Given the description of an element on the screen output the (x, y) to click on. 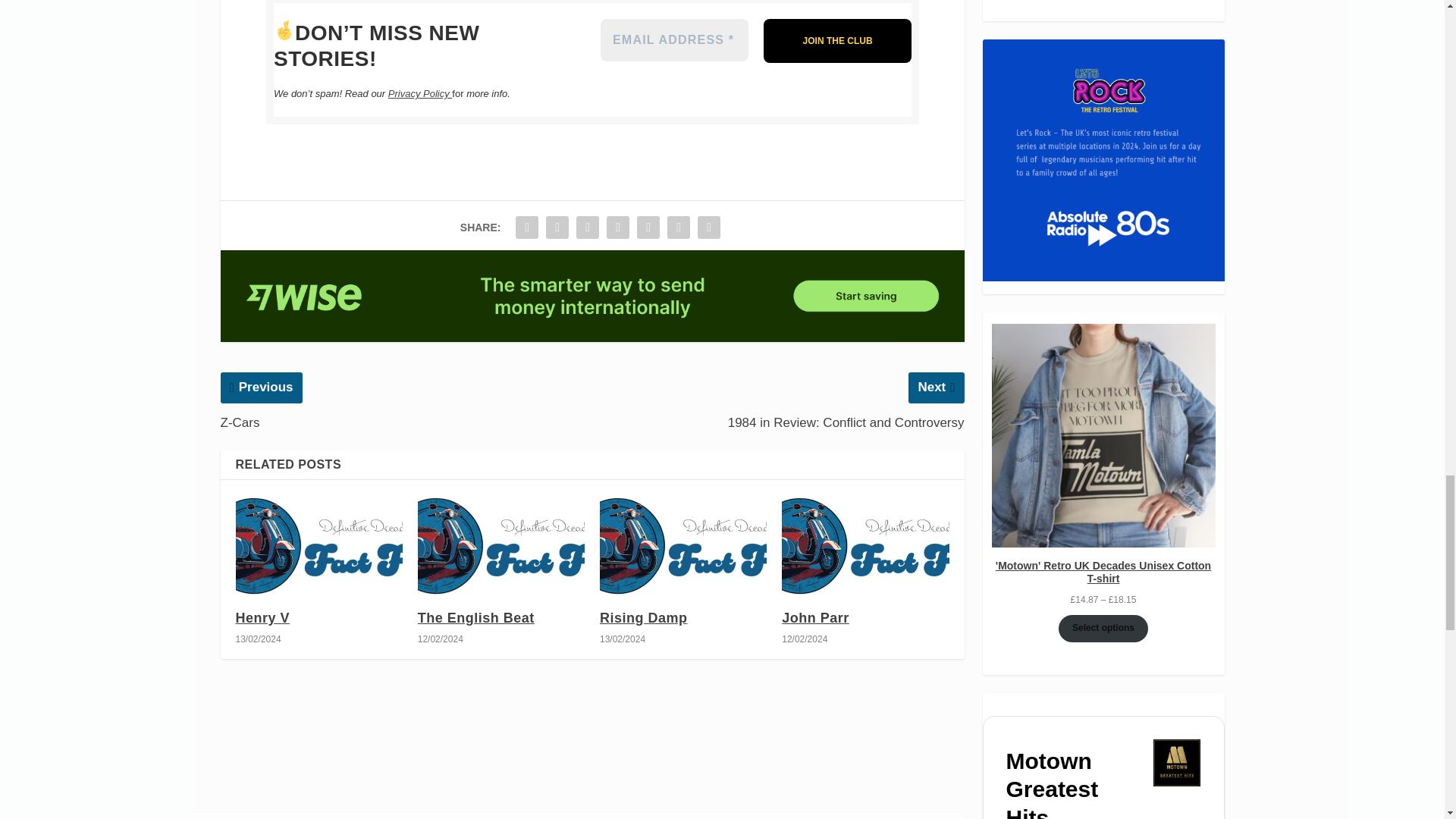
JOIN THE CLUB (836, 40)
Share "Zoo Quest" via Twitter (556, 227)
Share "Zoo Quest" via Pinterest (617, 227)
Share "Zoo Quest" via LinkedIn (648, 227)
Share "Zoo Quest" via Print (708, 227)
Share "Zoo Quest" via Email (678, 227)
Share "Zoo Quest" via Facebook (526, 227)
Email Address (673, 39)
